Given the description of an element on the screen output the (x, y) to click on. 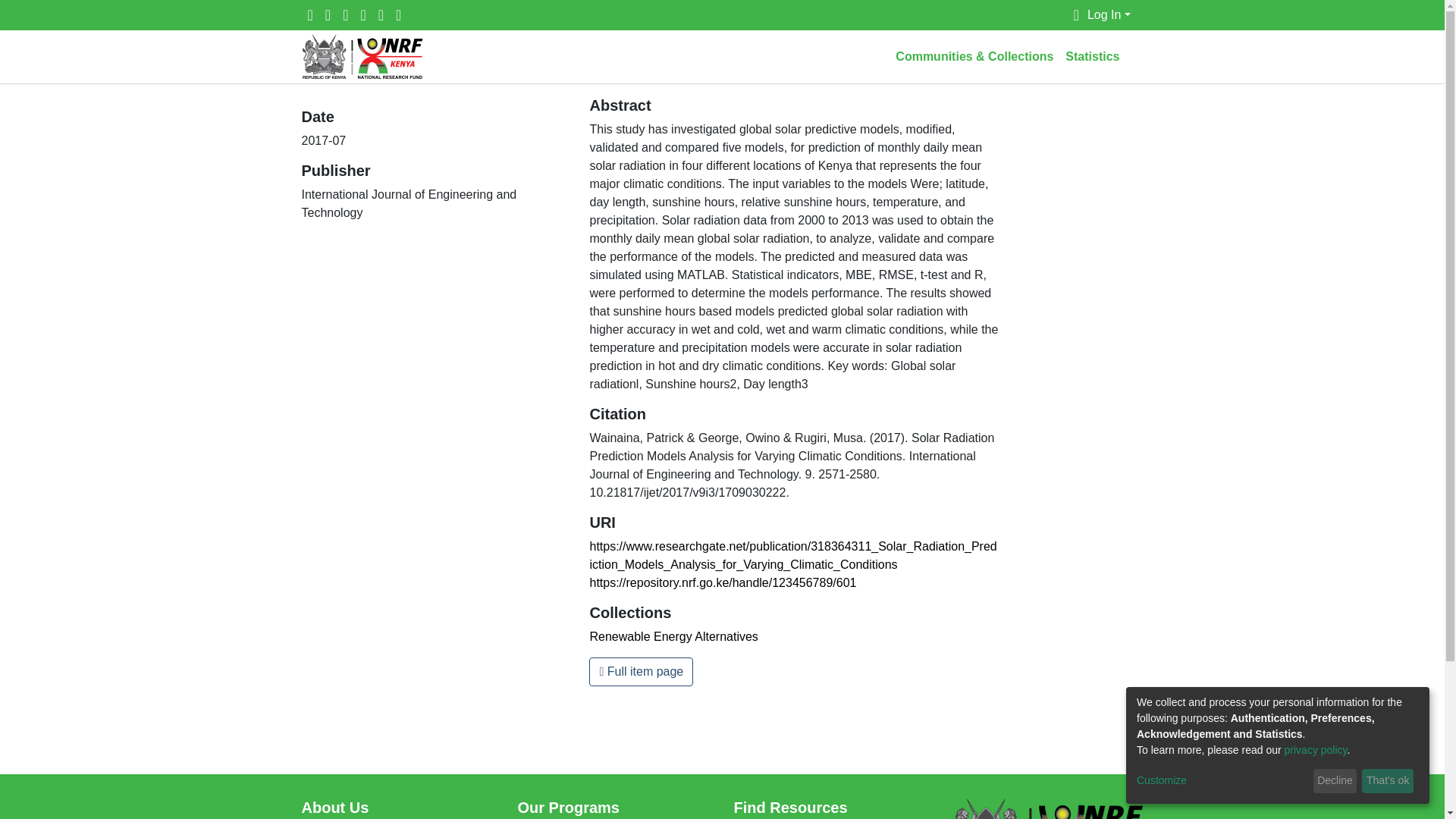
Full item page (641, 671)
privacy policy (1316, 749)
Statistics (1092, 56)
Renewable Energy Alternatives (673, 635)
Language switch (1076, 14)
Log In (1109, 14)
Statistics (1092, 56)
